Given the description of an element on the screen output the (x, y) to click on. 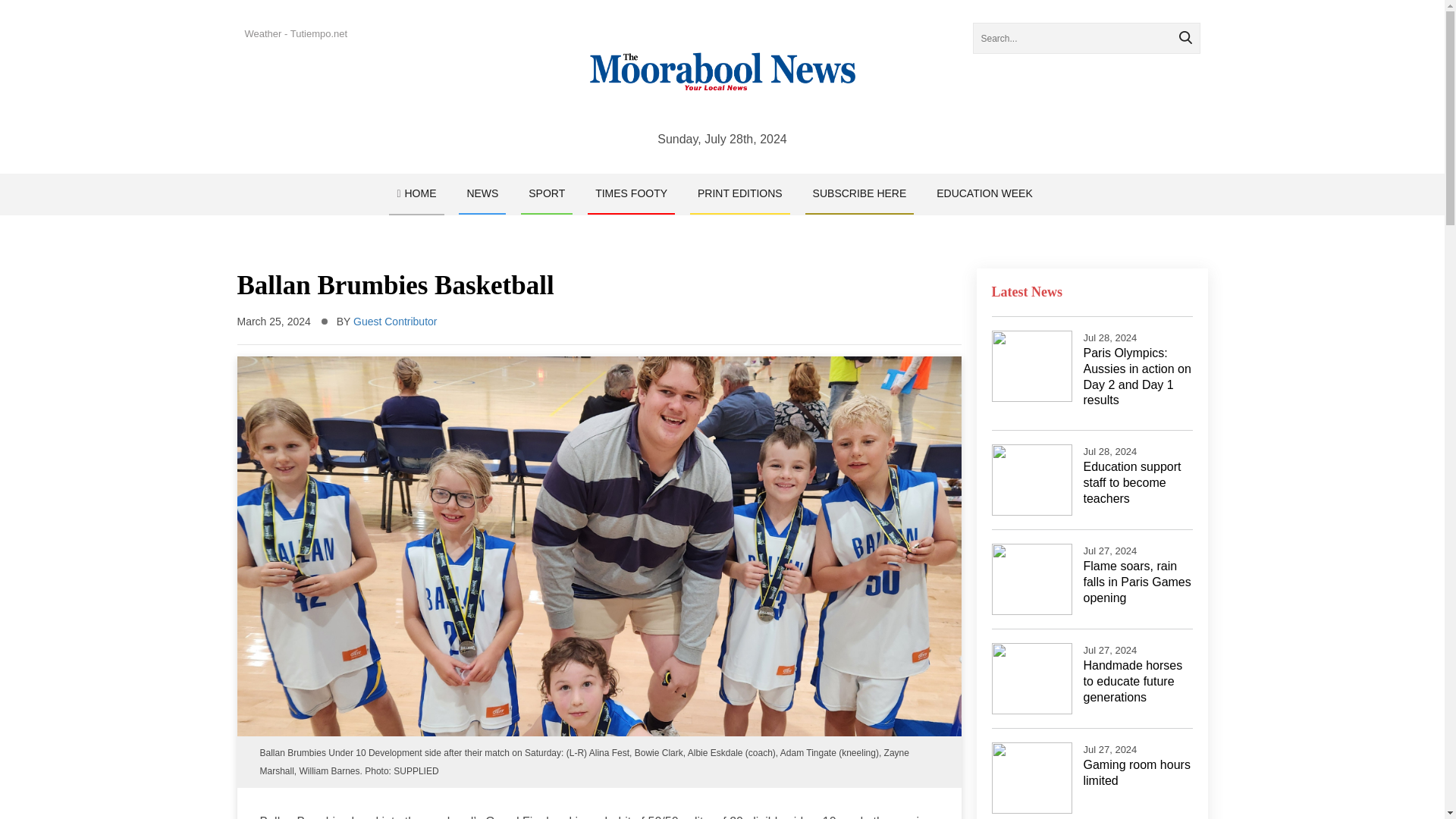
TIMES FOOTY (631, 193)
NEWS (481, 193)
submit (1184, 37)
Print Editions (740, 193)
Paris Olympics: Aussies in action on Day 2 and Day 1 results (1137, 376)
SPORT (546, 193)
Handmade horses to educate future generations (1132, 681)
Gaming room hours limited (1136, 772)
Education Week (984, 193)
Times Footy (631, 193)
submit (1184, 37)
EDUCATION WEEK (984, 193)
News (481, 193)
SUBSCRIBE HERE (859, 193)
